Given the description of an element on the screen output the (x, y) to click on. 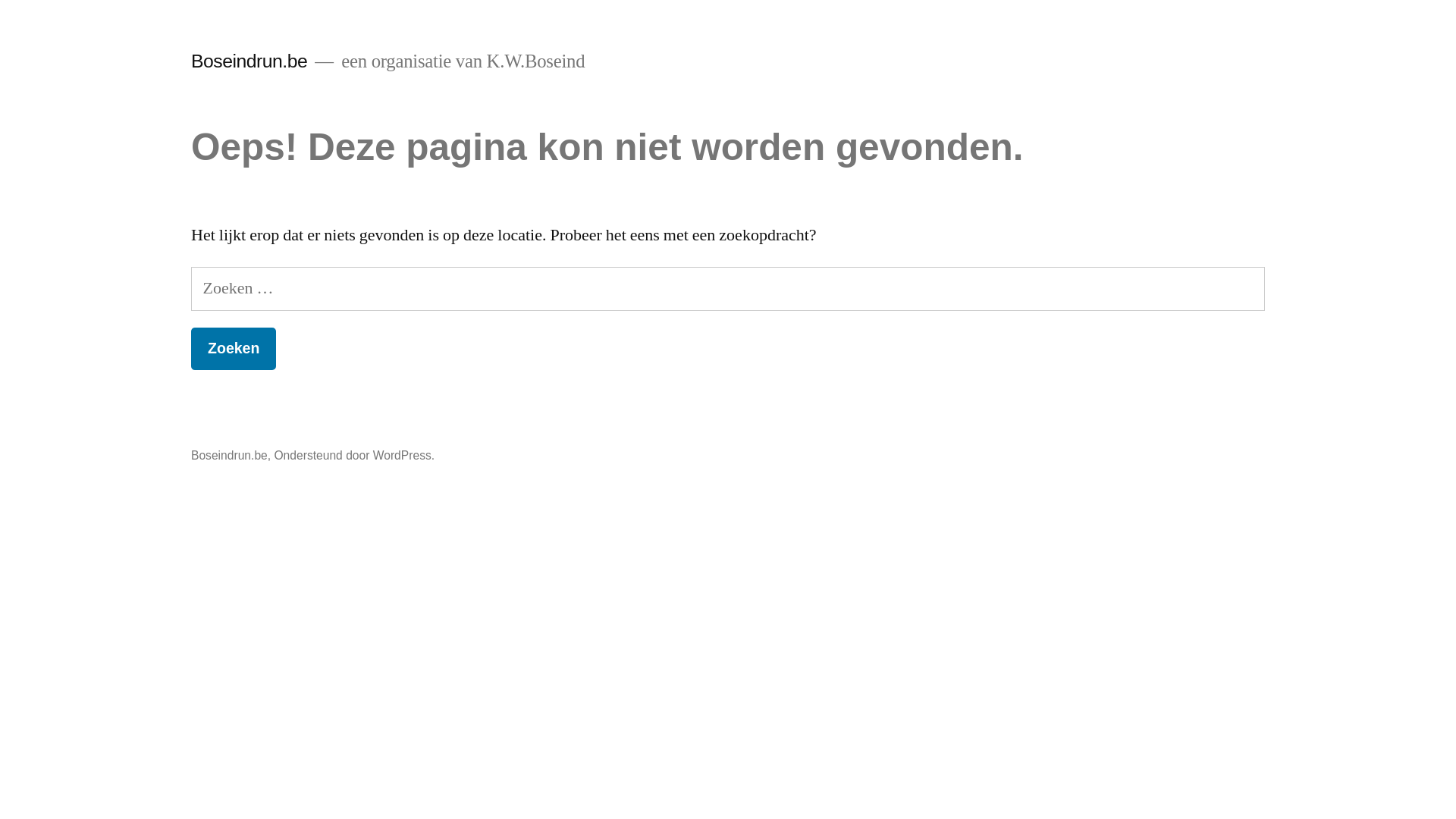
Ondersteund door WordPress. Element type: text (353, 454)
Boseindrun.be Element type: text (249, 60)
Boseindrun.be Element type: text (229, 454)
Zoeken Element type: text (233, 348)
